Given the description of an element on the screen output the (x, y) to click on. 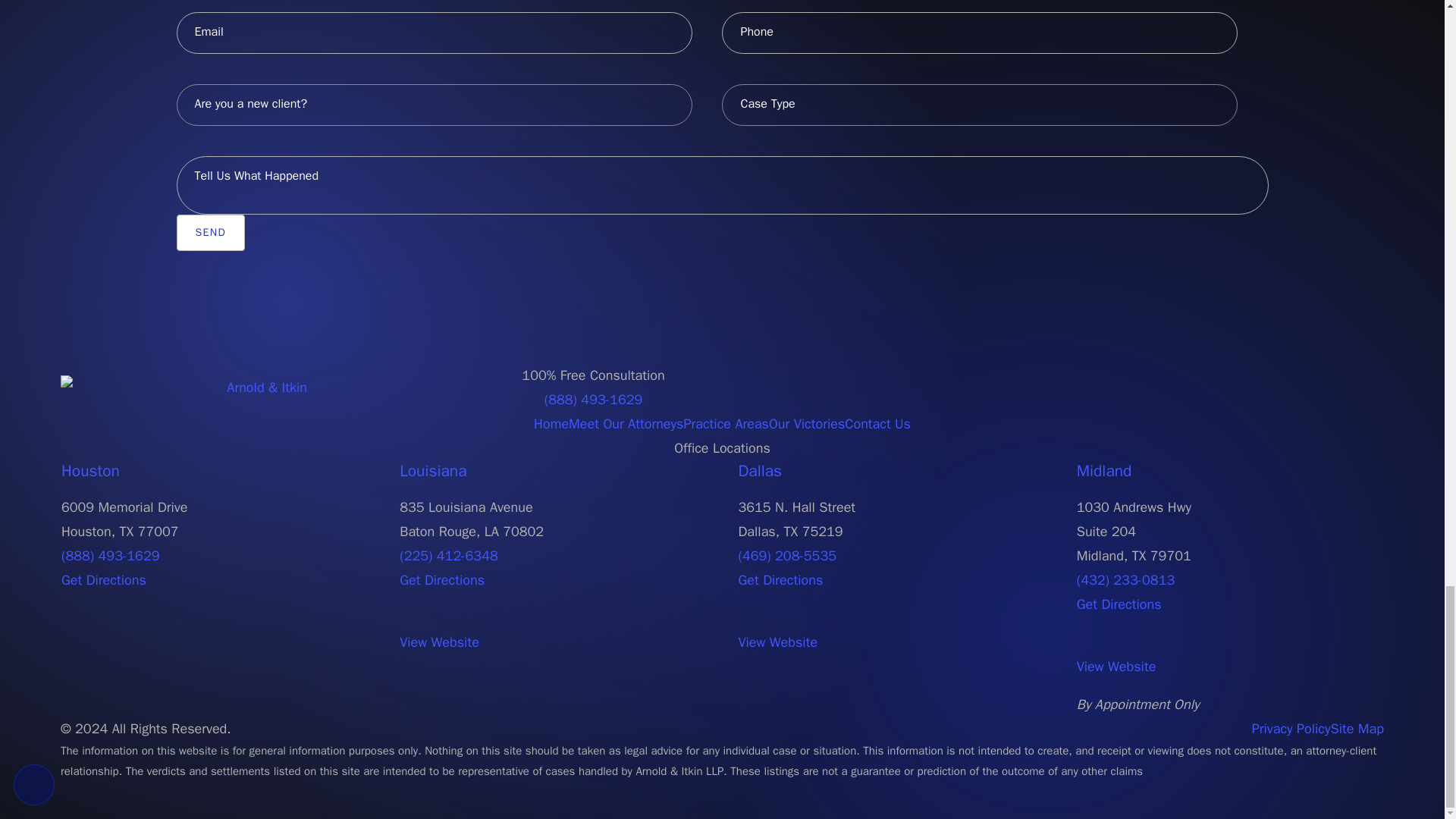
YouTube (1349, 386)
LinkedIn (1377, 386)
Twitter (1335, 386)
Instagram (1363, 386)
Facebook (1322, 386)
